Given the description of an element on the screen output the (x, y) to click on. 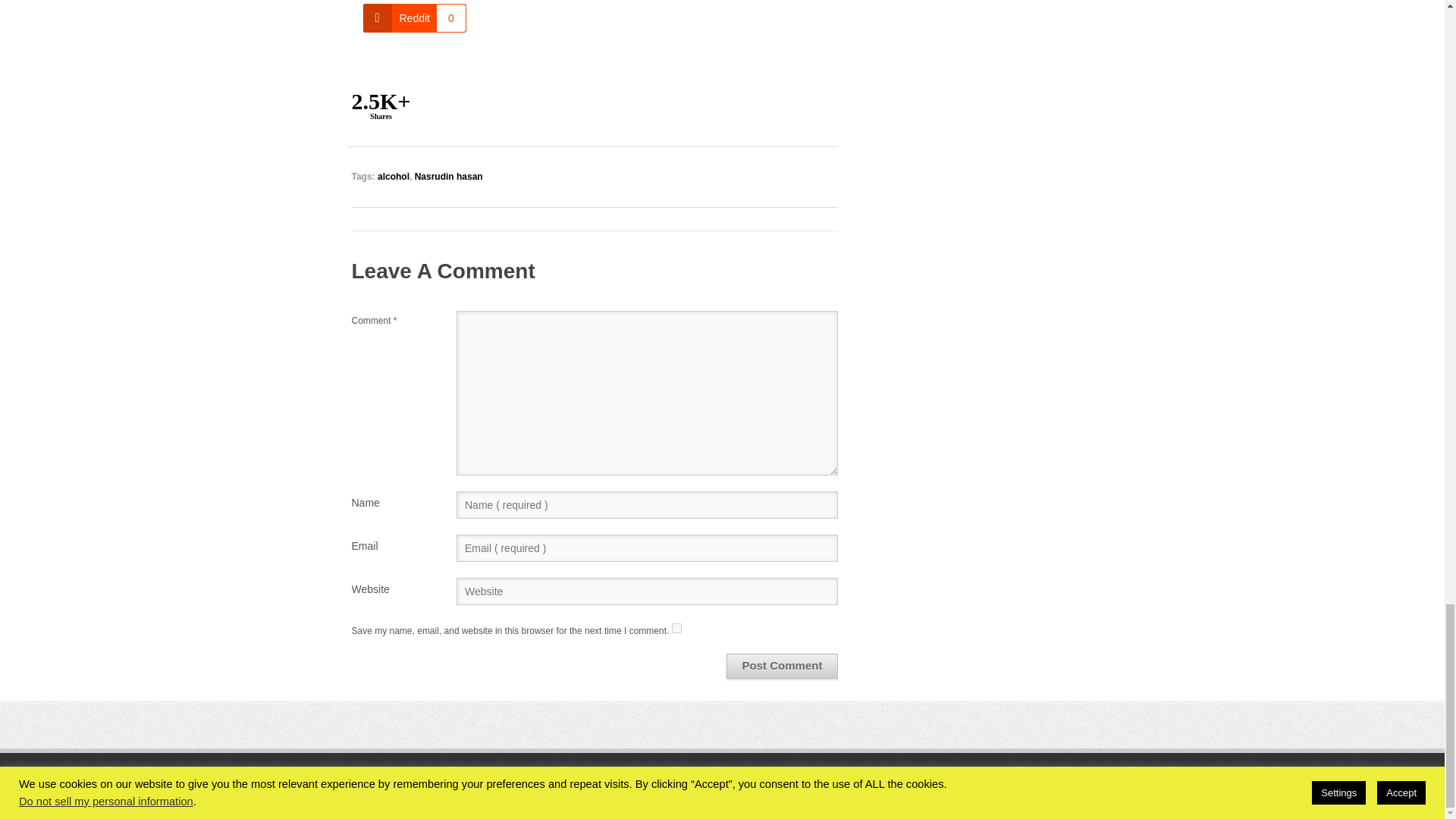
Simple Catch Pro (1057, 784)
Post Comment (782, 665)
yes (676, 628)
Rebuilding Malaysia (503, 784)
WordPress (958, 784)
